Given the description of an element on the screen output the (x, y) to click on. 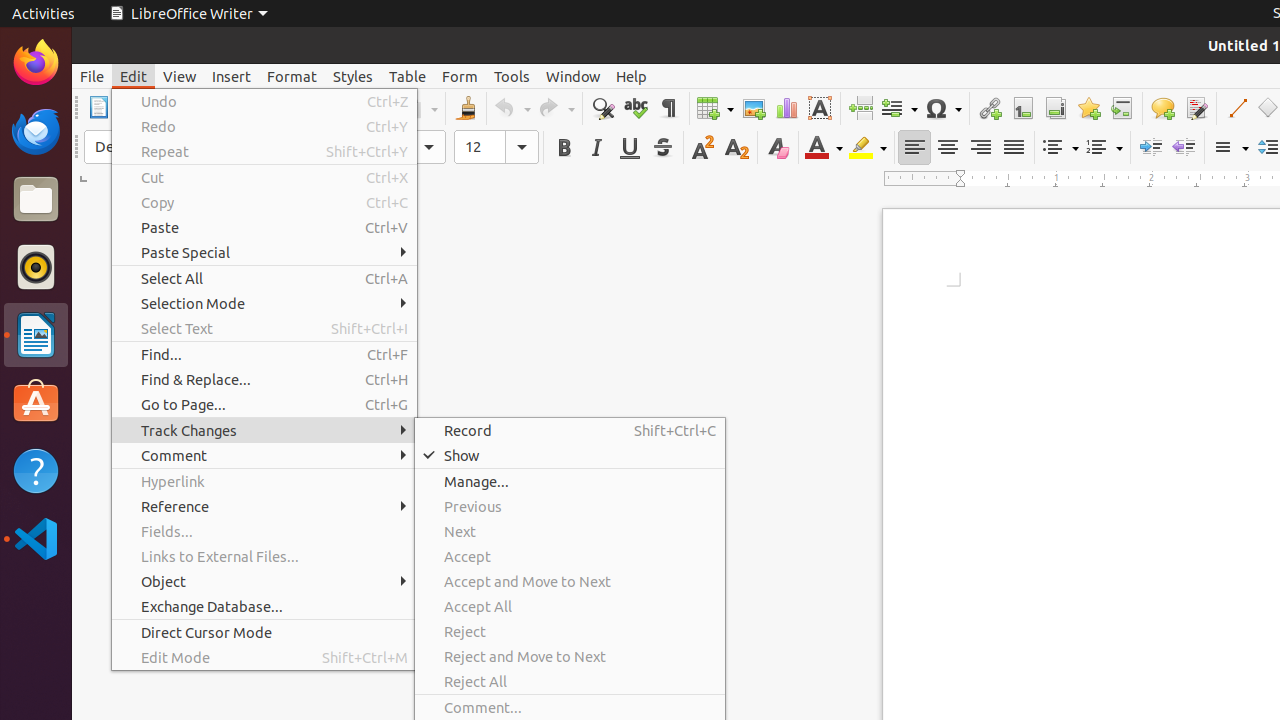
LibreOffice Writer Element type: menu (188, 13)
Ubuntu Software Element type: push-button (36, 402)
Reference Element type: menu (264, 506)
Hyperlink Element type: menu-item (264, 481)
Tools Element type: menu (512, 76)
